Given the description of an element on the screen output the (x, y) to click on. 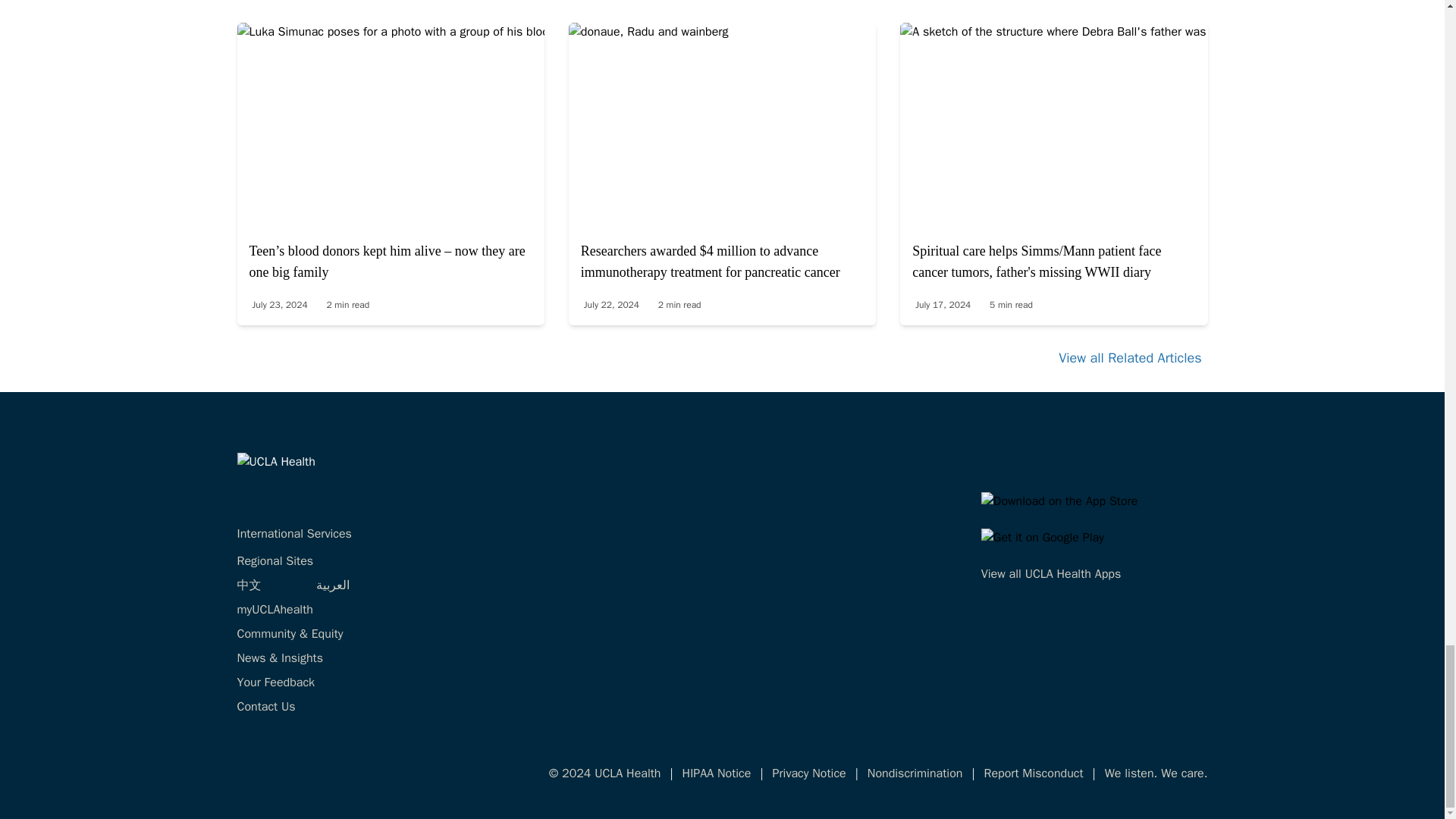
myUCLAhealth Login. (274, 609)
